Given the description of an element on the screen output the (x, y) to click on. 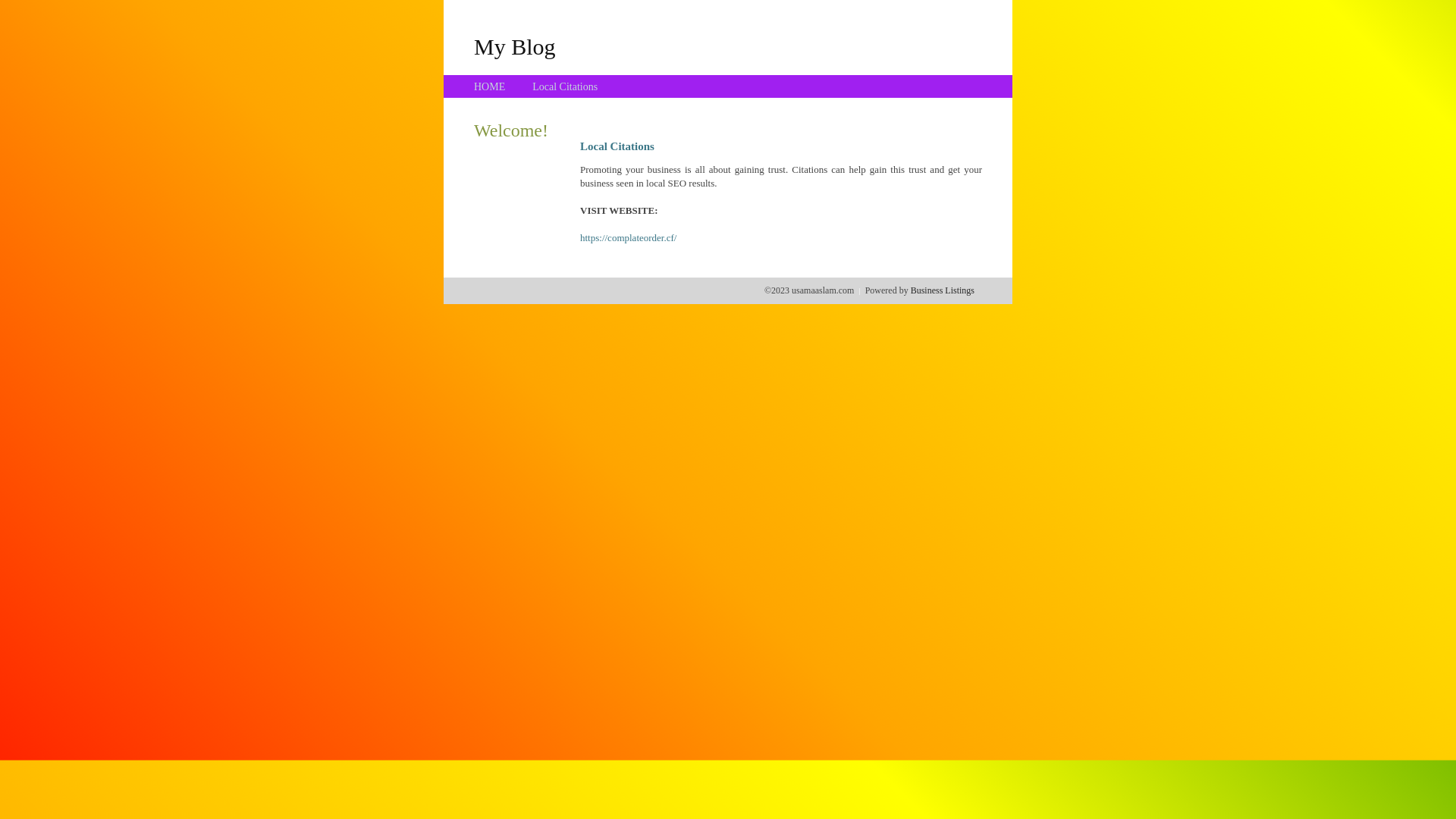
HOME Element type: text (489, 86)
Local Citations Element type: text (564, 86)
My Blog Element type: text (514, 46)
https://complateorder.cf/ Element type: text (628, 237)
Business Listings Element type: text (942, 290)
